Given the description of an element on the screen output the (x, y) to click on. 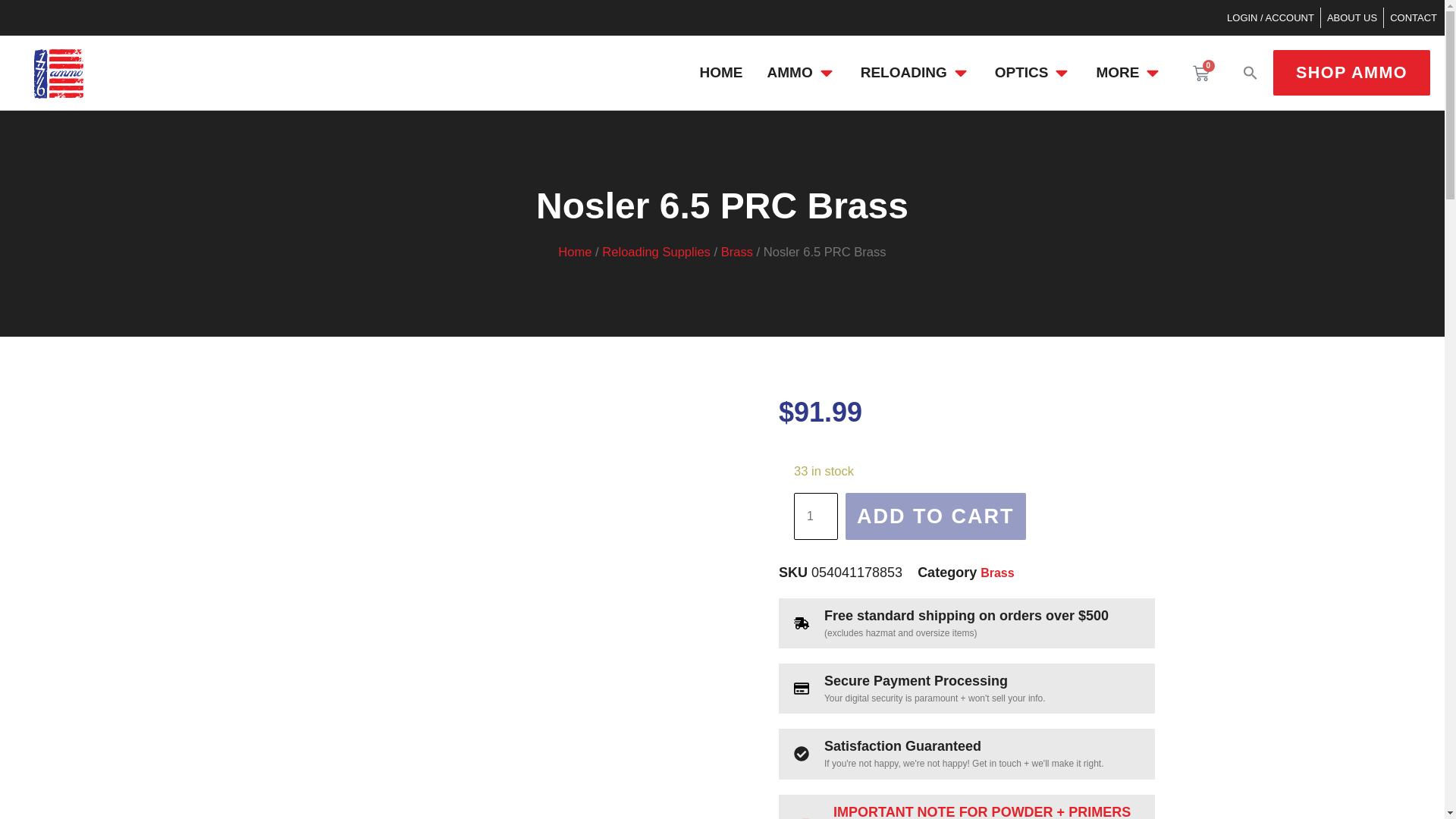
AMMO (789, 72)
HOME (721, 72)
ABOUT US (1351, 17)
1 (815, 516)
CONTACT (1413, 17)
